Given the description of an element on the screen output the (x, y) to click on. 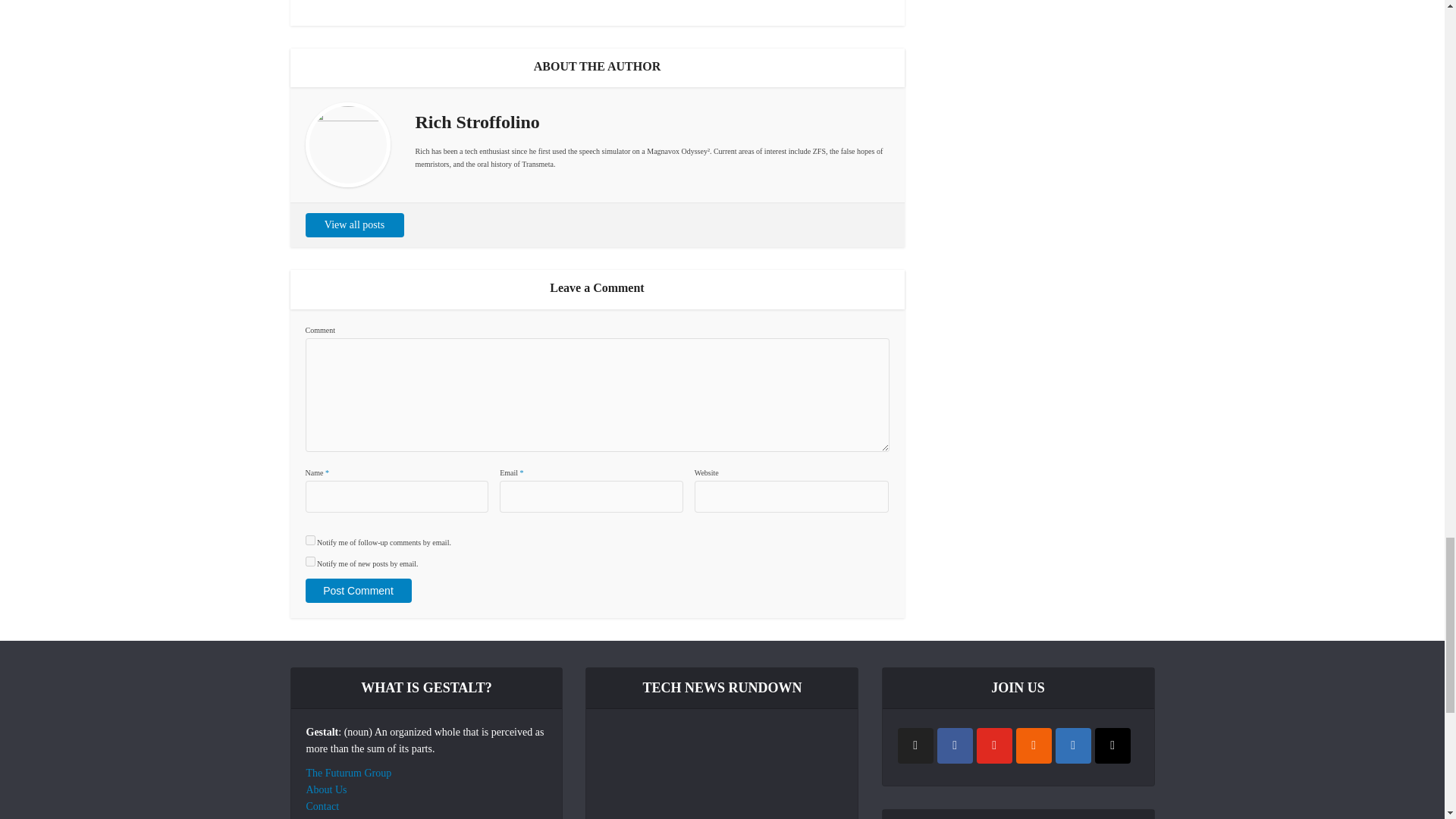
subscribe (309, 561)
Mail (1112, 745)
Linkedin (1072, 745)
Facebook (954, 745)
RSS (1033, 745)
YouTube (993, 745)
subscribe (309, 540)
Post Comment (357, 590)
